Given the description of an element on the screen output the (x, y) to click on. 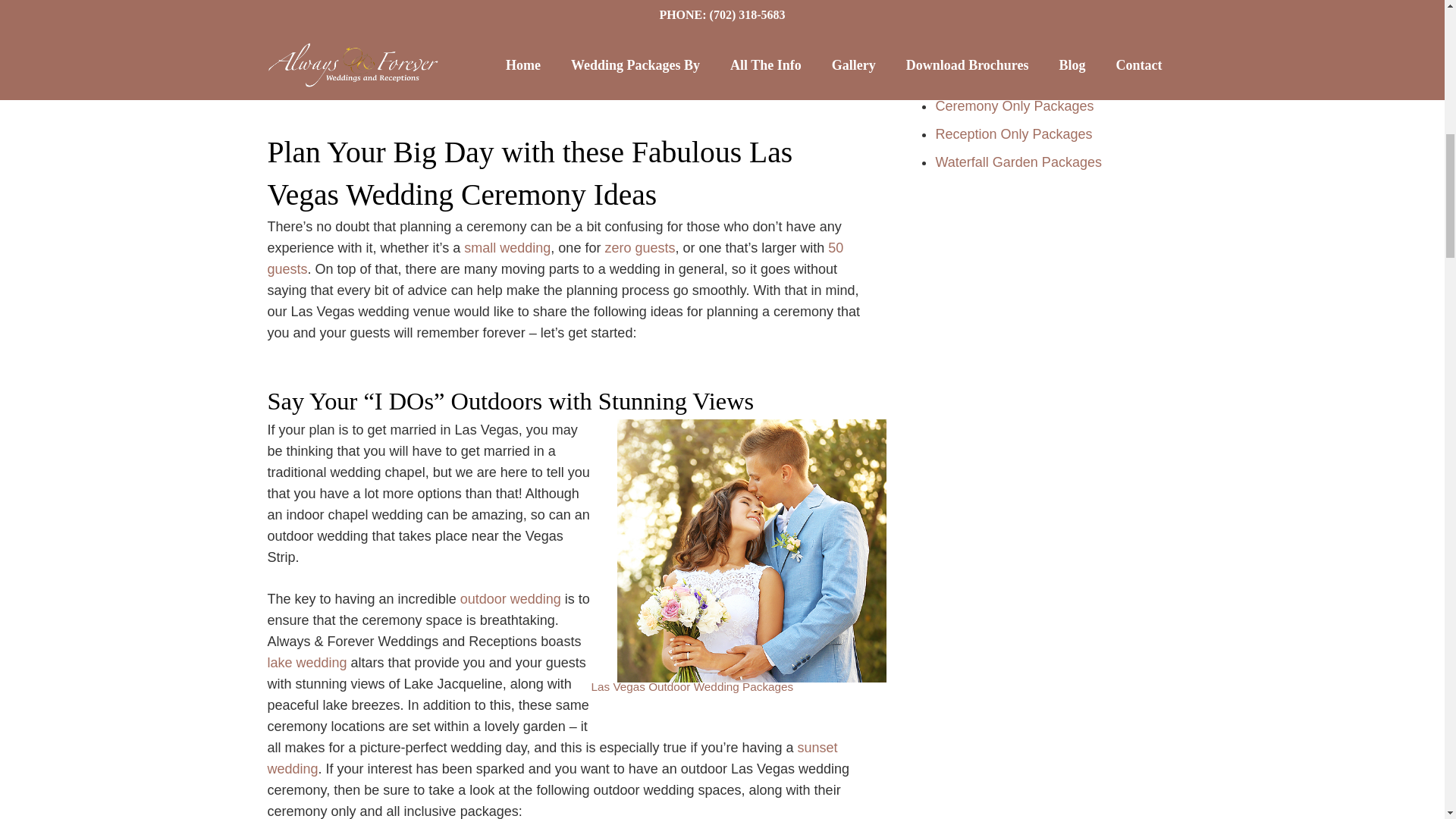
Back to top (1413, 26)
